Given the description of an element on the screen output the (x, y) to click on. 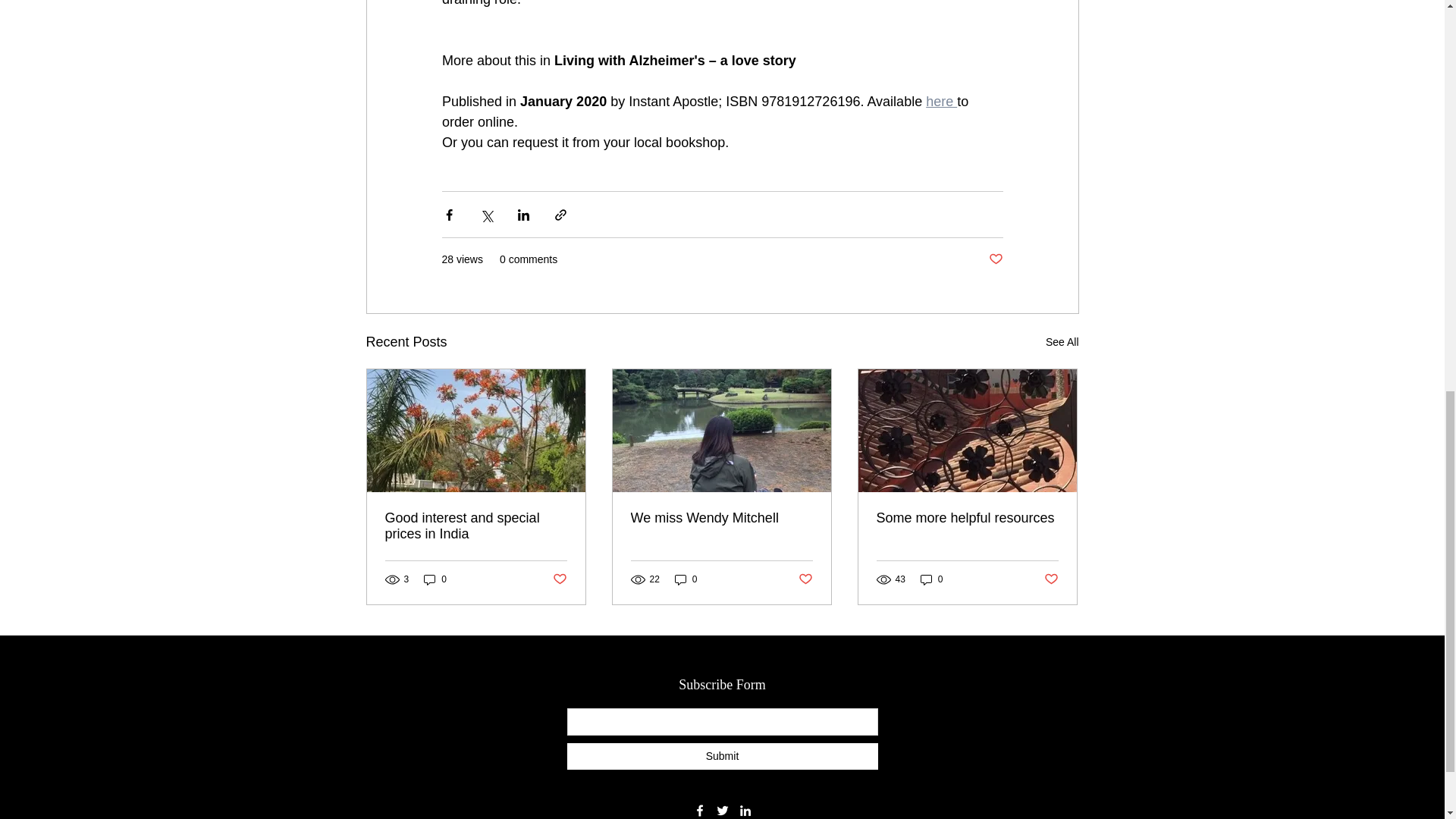
0 (685, 579)
Post not marked as liked (804, 579)
We miss Wendy Mitchell (721, 518)
Some more helpful resources (967, 518)
0 (435, 579)
here  (941, 101)
See All (1061, 341)
Submit (722, 755)
0 (931, 579)
Good interest and special prices in India (476, 526)
